Given the description of an element on the screen output the (x, y) to click on. 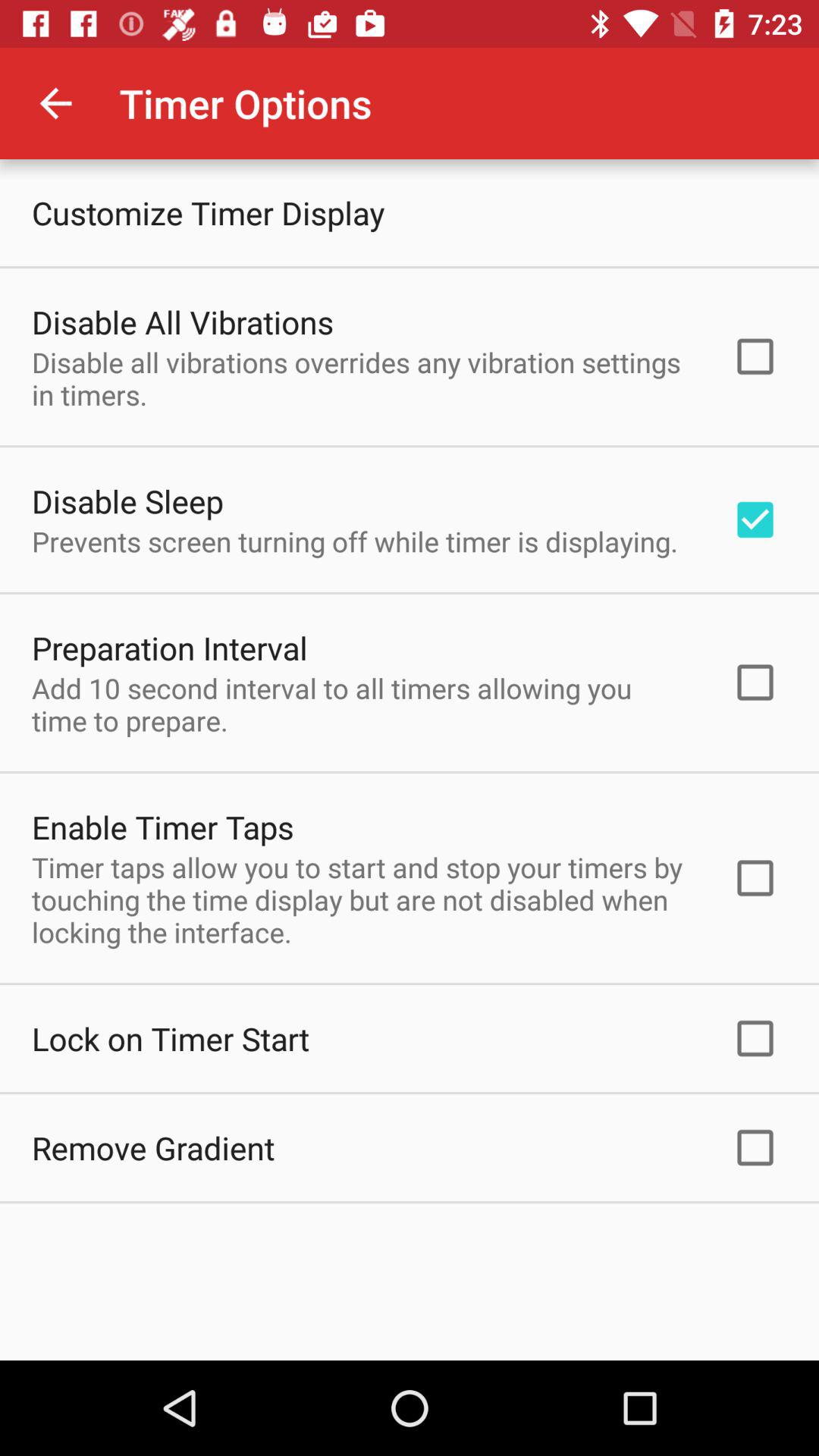
click the icon above preparation interval item (354, 541)
